Given the description of an element on the screen output the (x, y) to click on. 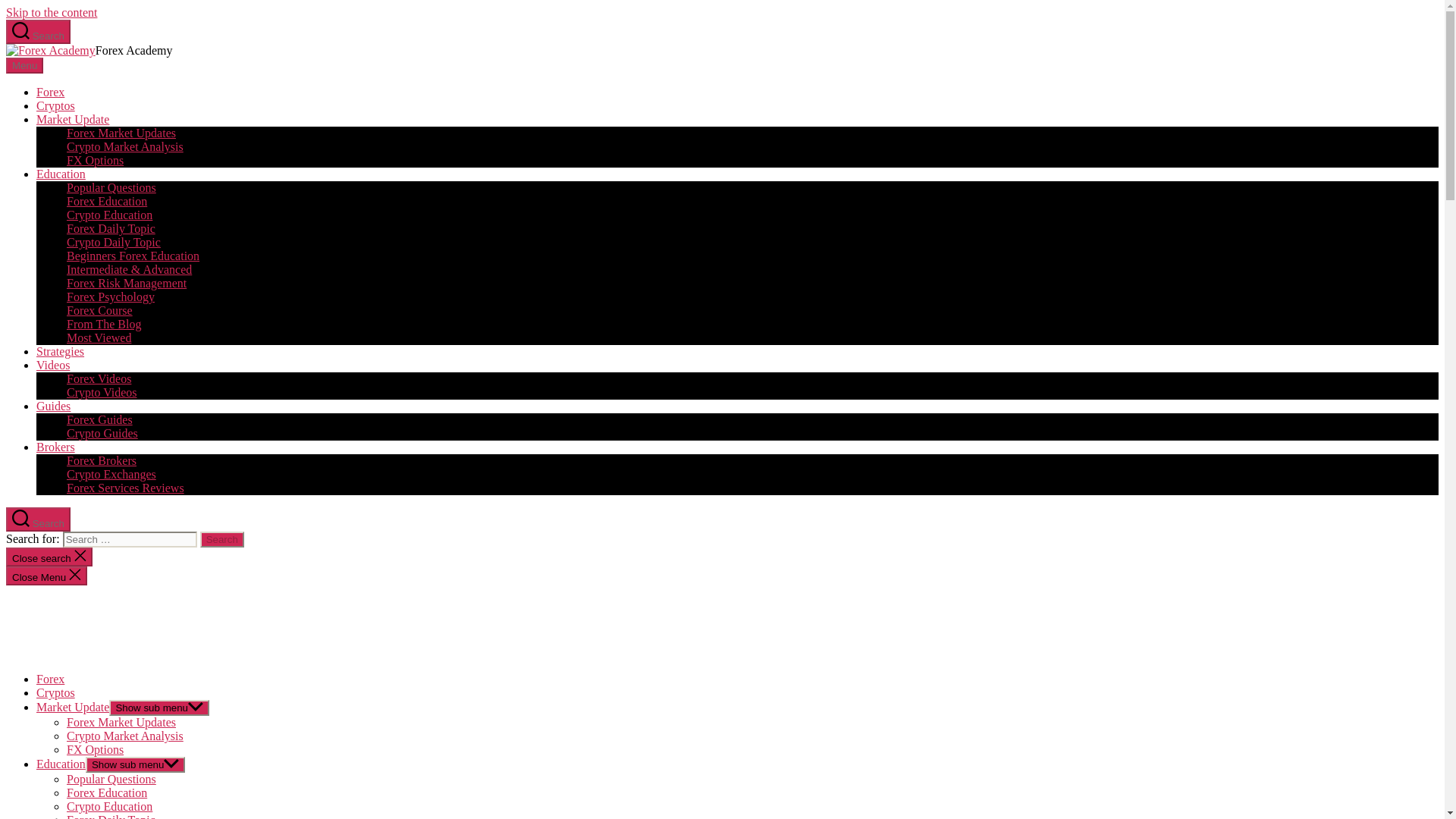
Skip to the content (51, 11)
Menu (24, 65)
Education (60, 173)
Forex Psychology (110, 296)
Videos (52, 364)
Search (37, 31)
Forex Services Reviews (125, 487)
Forex Daily Topic (110, 228)
Search (37, 518)
FX Options (94, 160)
